Given the description of an element on the screen output the (x, y) to click on. 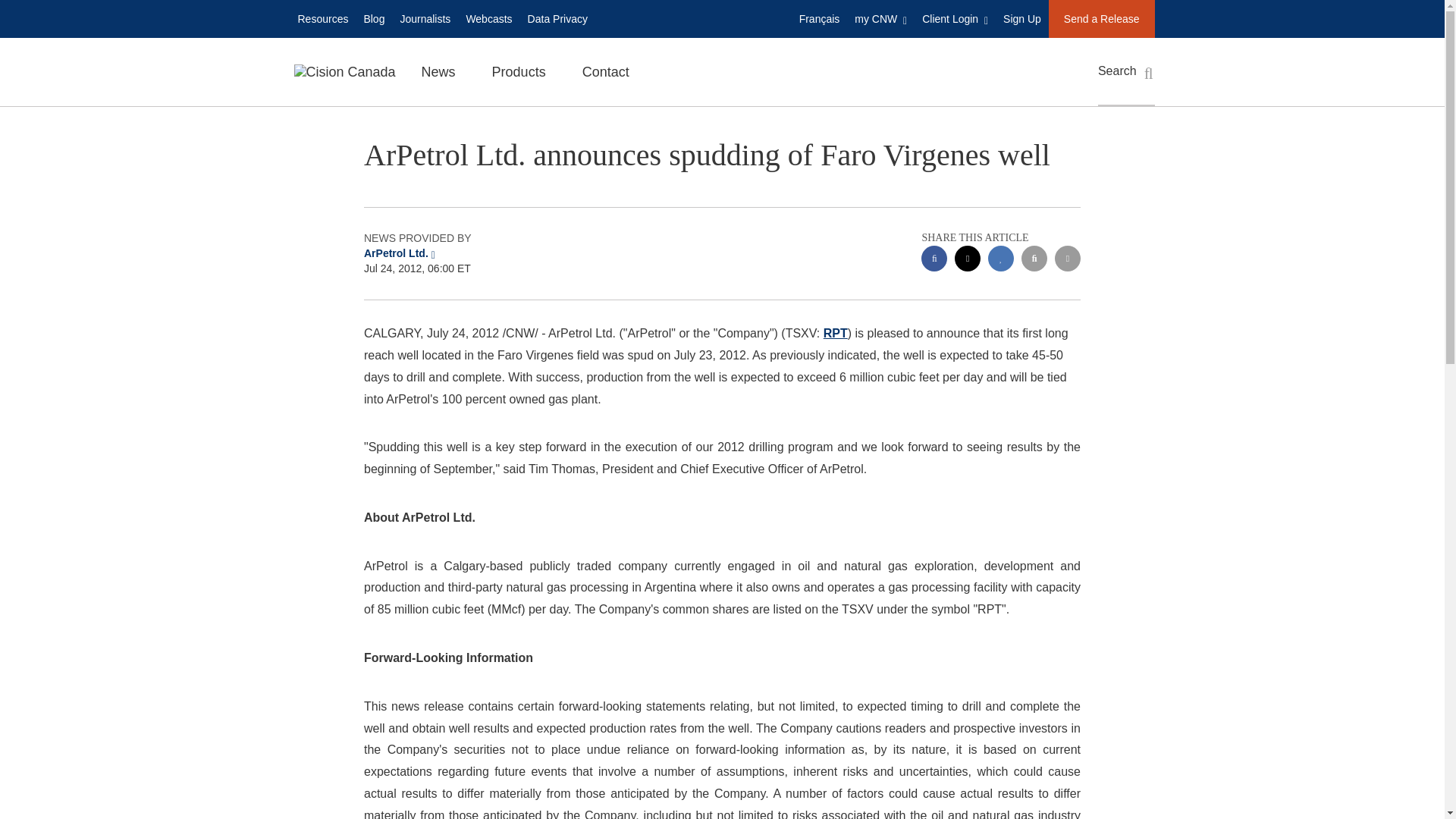
Send a Release (1101, 18)
Client Login  (954, 18)
Cision Canada (345, 71)
Webcasts (488, 18)
Contact (605, 71)
Journalists (424, 18)
Blog (373, 18)
News (438, 71)
Data Privacy (557, 18)
my CNW  (880, 18)
